Given the description of an element on the screen output the (x, y) to click on. 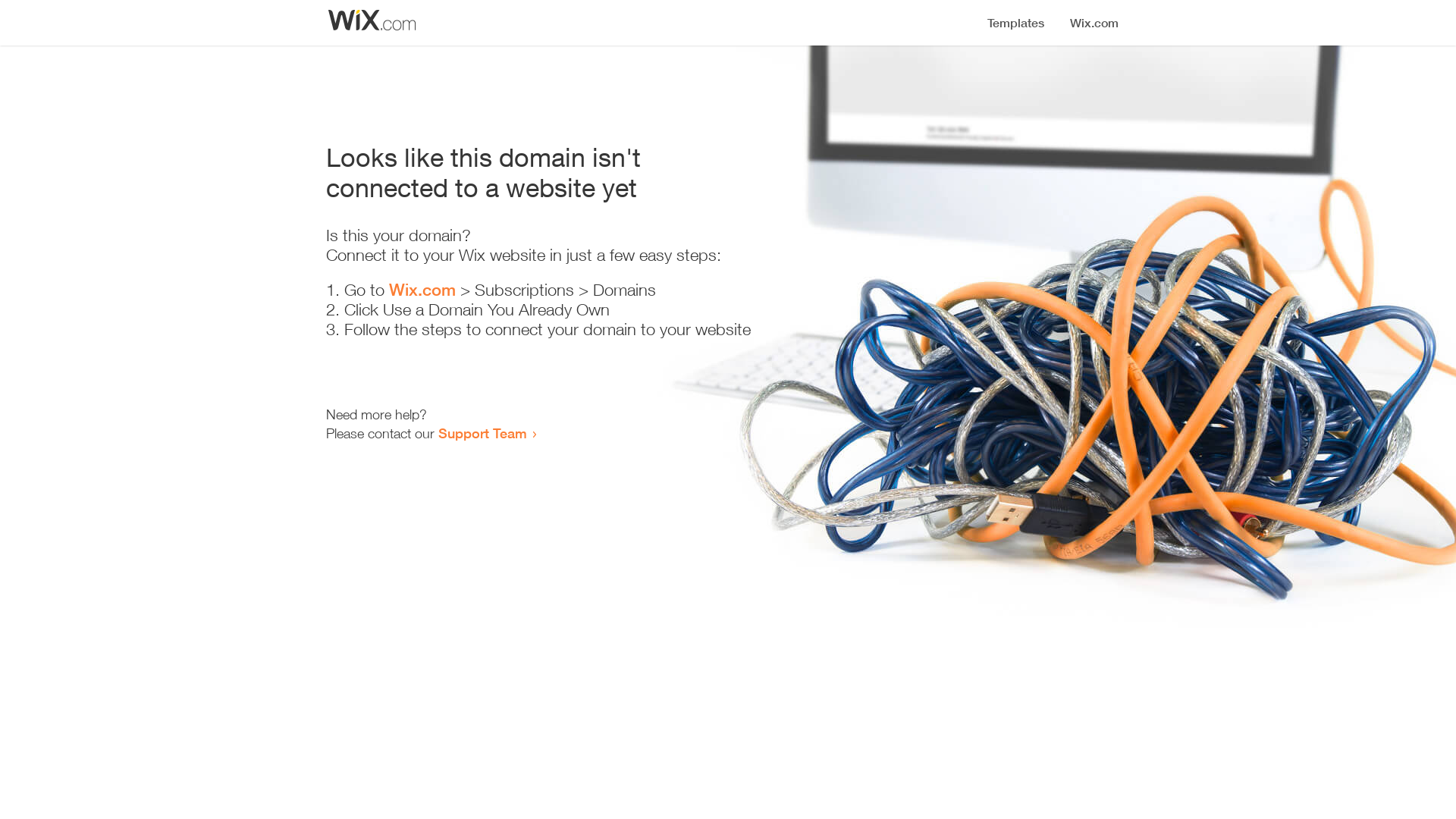
Wix.com Element type: text (422, 289)
Support Team Element type: text (482, 432)
